Given the description of an element on the screen output the (x, y) to click on. 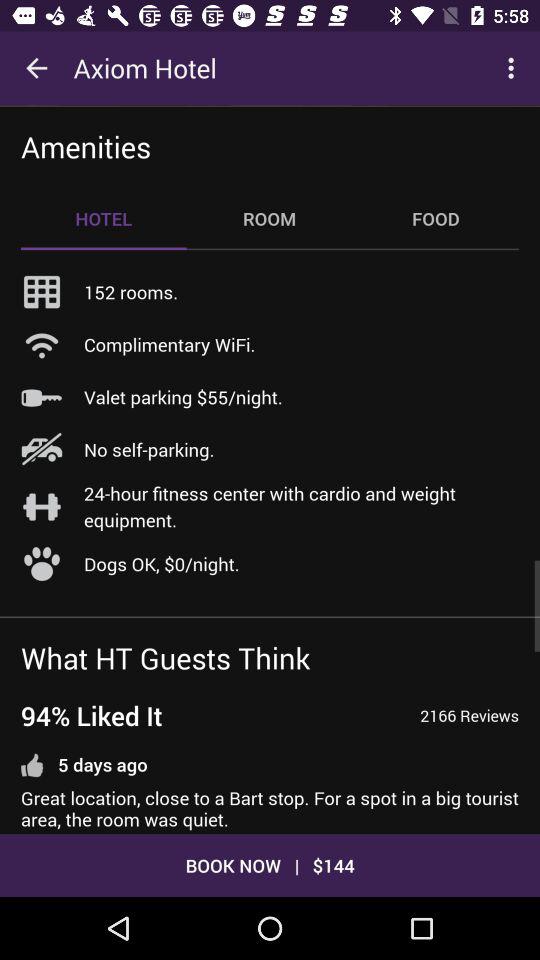
scroll until the complimentary wifi. icon (169, 344)
